Given the description of an element on the screen output the (x, y) to click on. 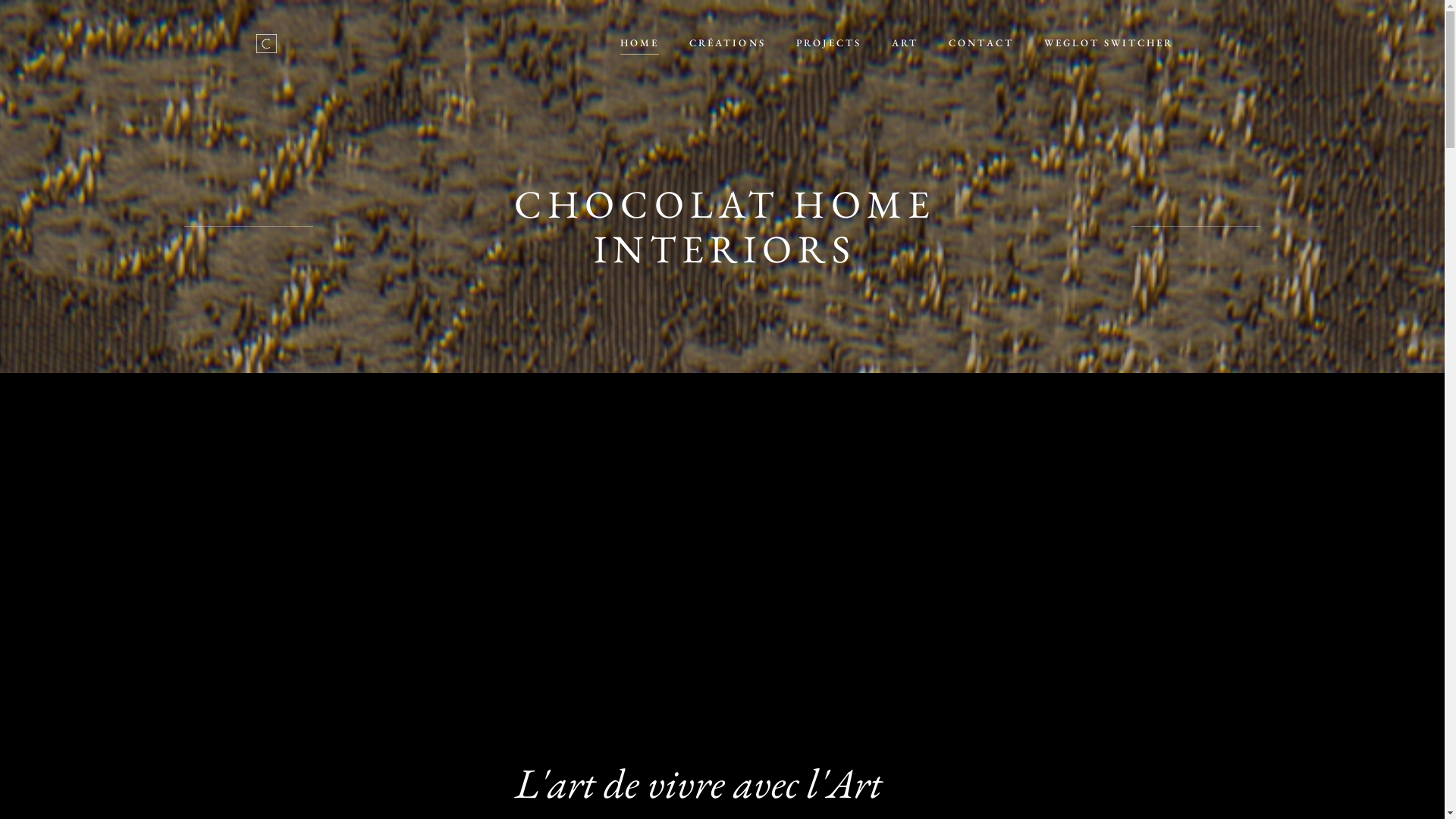
PROJECTS Element type: text (828, 42)
WEGLOT SWITCHER Element type: text (1109, 42)
HOME Element type: text (639, 42)
CONTACT Element type: text (980, 42)
ART Element type: text (904, 42)
